Given the description of an element on the screen output the (x, y) to click on. 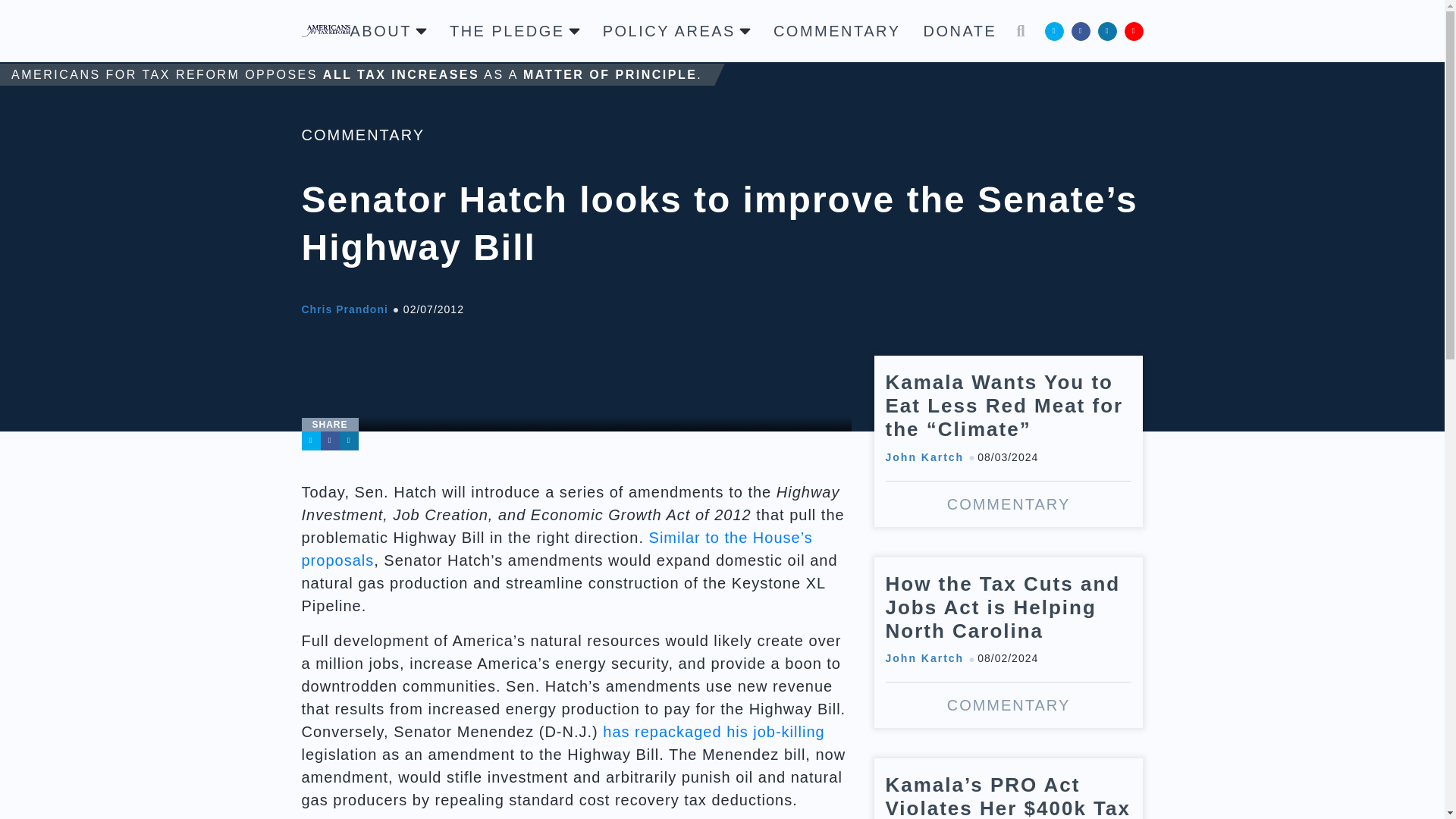
DONATE (960, 30)
Twitter (310, 440)
COMMENTARY (837, 30)
Facebook (329, 440)
Chris Prandoni (344, 309)
ABOUT (388, 30)
Twitter (1054, 30)
LinkedIn (348, 440)
has repackaged his job-killing (713, 731)
How the Tax Cuts and Jobs Act is Helping North Carolina (1007, 642)
COMMENTARY (363, 134)
Facebook (1079, 30)
THE PLEDGE (514, 30)
LinkedIn (1106, 30)
POLICY AREAS (676, 30)
